Given the description of an element on the screen output the (x, y) to click on. 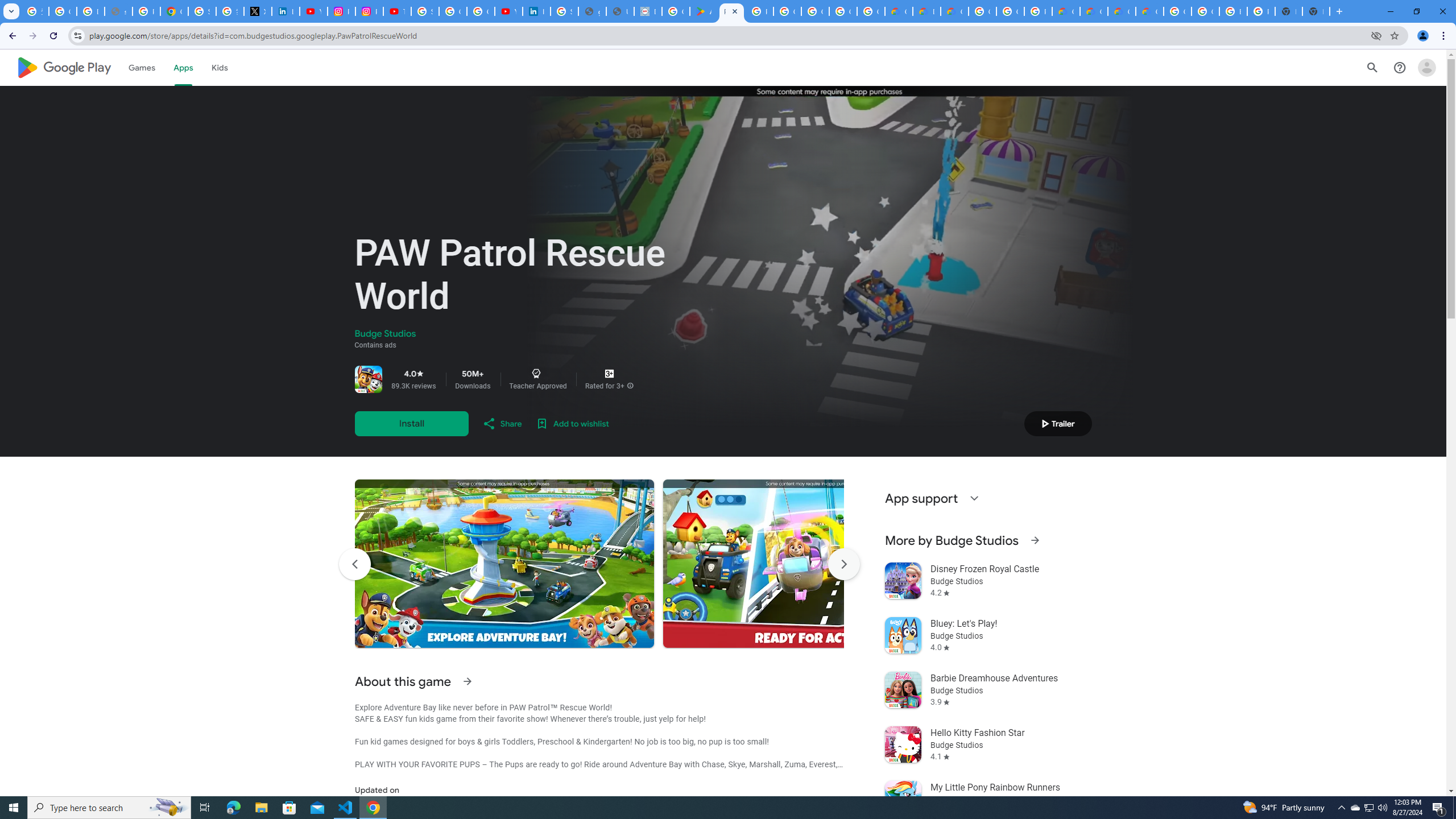
Google Cloud Pricing Calculator (1121, 11)
Google Cloud Platform (1205, 11)
See more information on More by Budge Studios (1034, 539)
Share (502, 422)
Scroll Next (843, 563)
Sign in - Google Accounts (425, 11)
Android Apps on Google Play (703, 11)
Gemini for Business and Developers | Google Cloud (955, 11)
Google Cloud Pricing Calculator (1093, 11)
Games (141, 67)
